Given the description of an element on the screen output the (x, y) to click on. 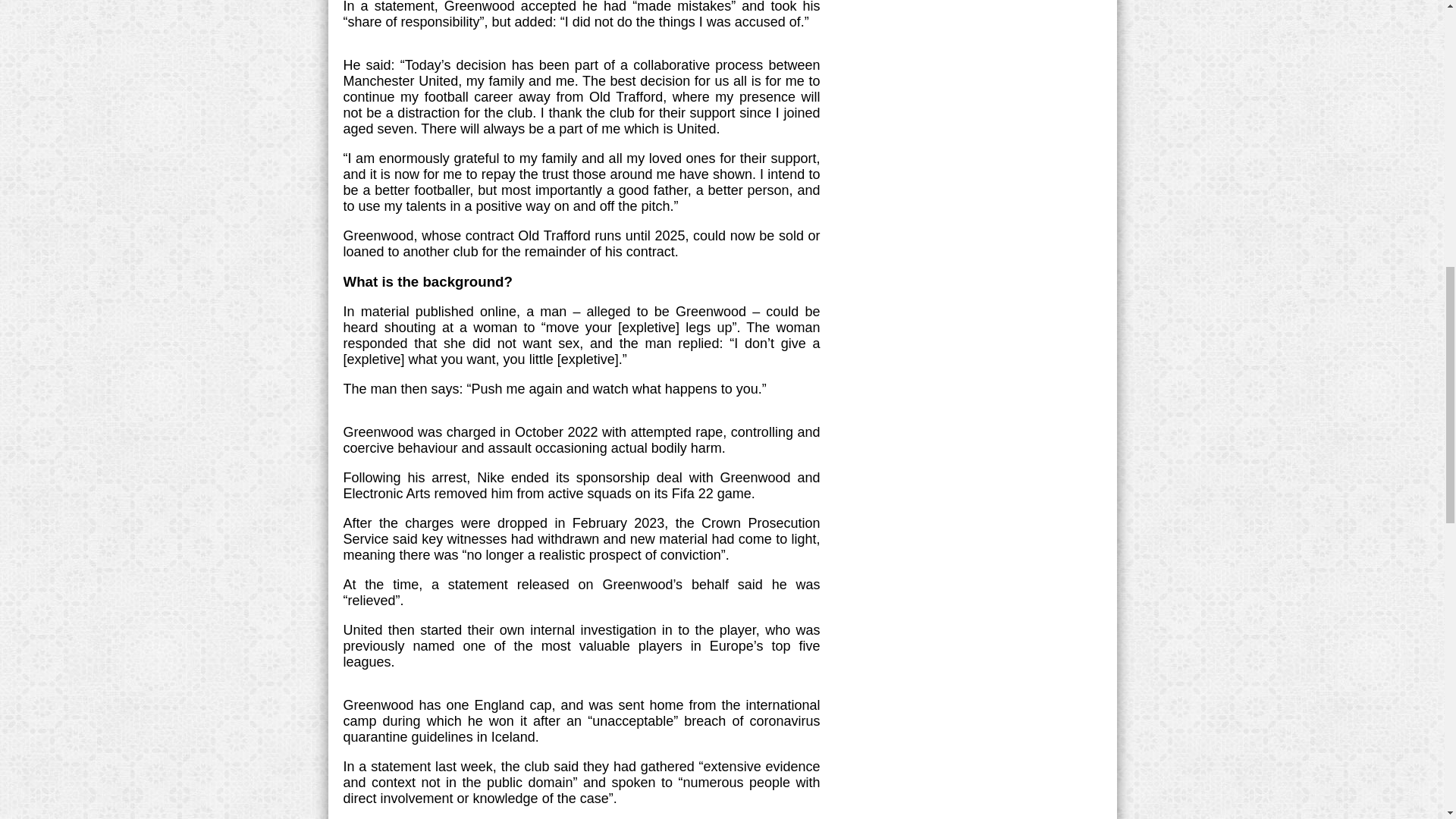
statement last week, (433, 766)
one of the most valuable players (572, 645)
